Given the description of an element on the screen output the (x, y) to click on. 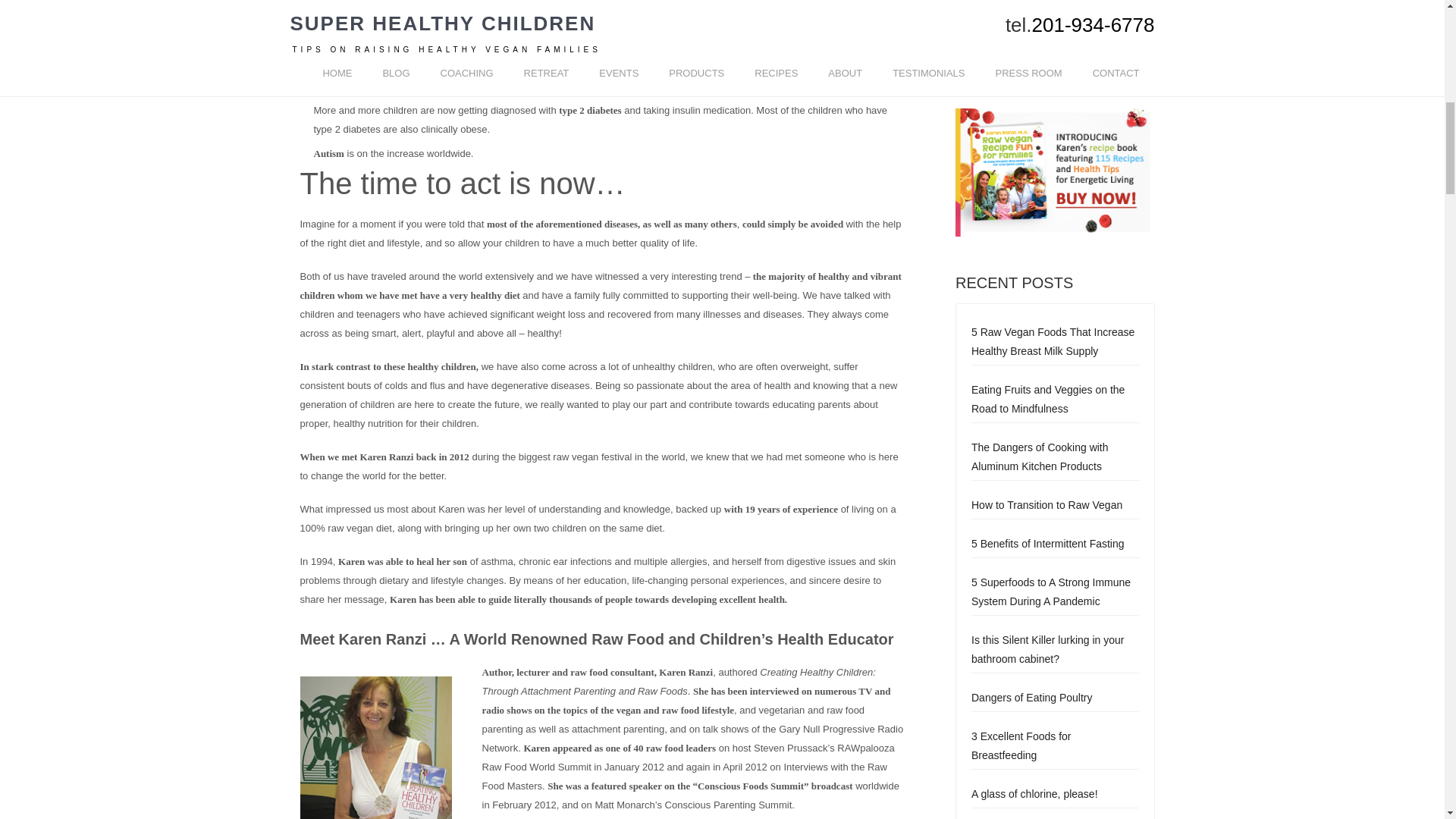
5 Raw Vegan Foods That Increase Healthy Breast Milk Supply (1052, 341)
A glass of chlorine, please! (1034, 793)
How to Transition to Raw Vegan (1046, 504)
5 Superfoods to A Strong Immune System During A Pandemic (1051, 591)
The Dangers of Cooking with Aluminum Kitchen Products (1039, 456)
Dangers of Eating Poultry (1032, 697)
Eating Fruits and Veggies on the Road to Mindfulness (1047, 399)
3 Excellent Foods for Breastfeeding (1021, 745)
5 Benefits of Intermittent Fasting (1047, 543)
Is this Silent Killer lurking in your bathroom cabinet? (1047, 649)
